Given the description of an element on the screen output the (x, y) to click on. 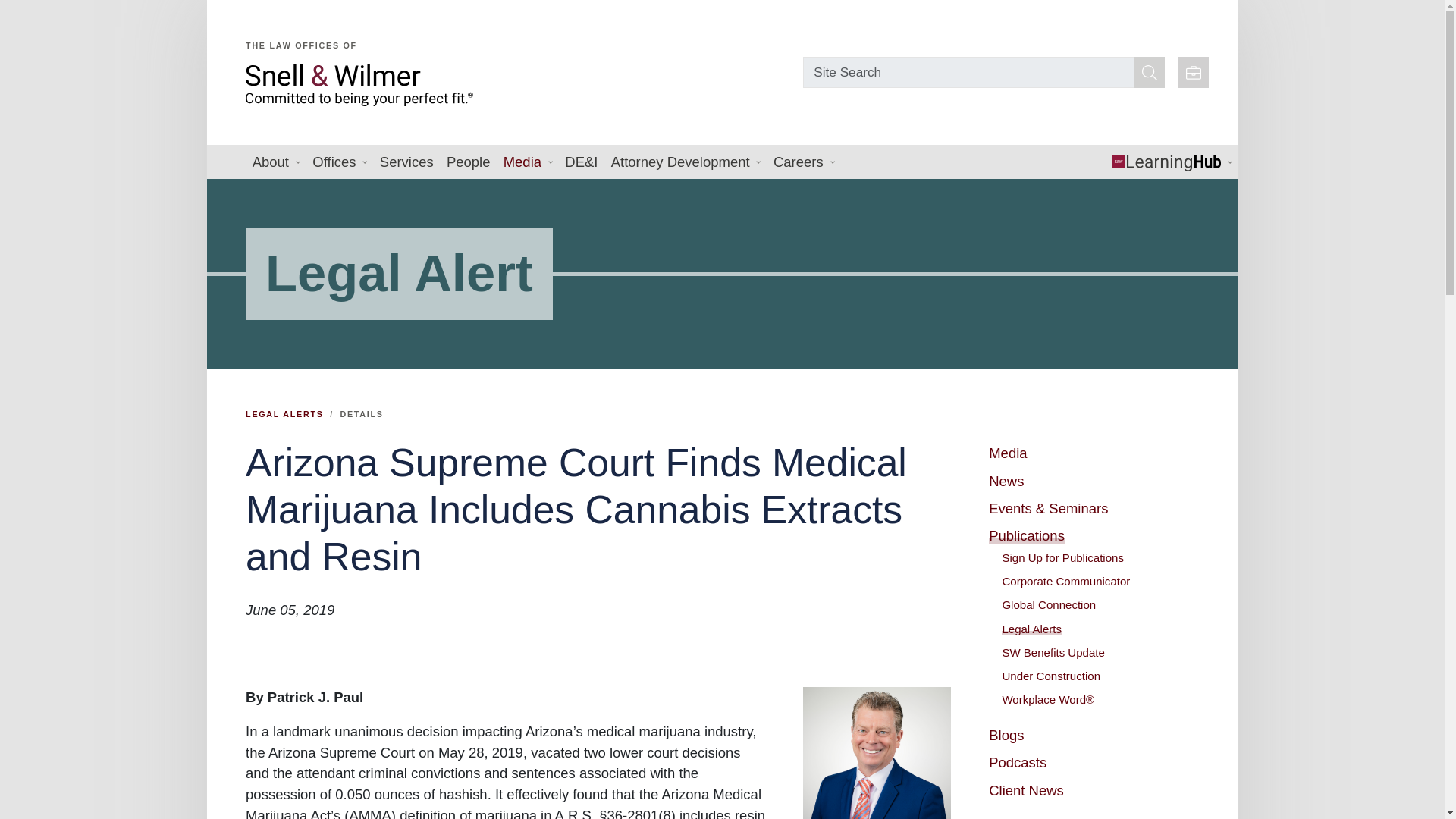
THE LAW OFFICES OF (519, 66)
Services (405, 161)
Offices (339, 161)
Media (527, 161)
People (467, 161)
SITE SEARCH (1149, 71)
About (275, 161)
